Given the description of an element on the screen output the (x, y) to click on. 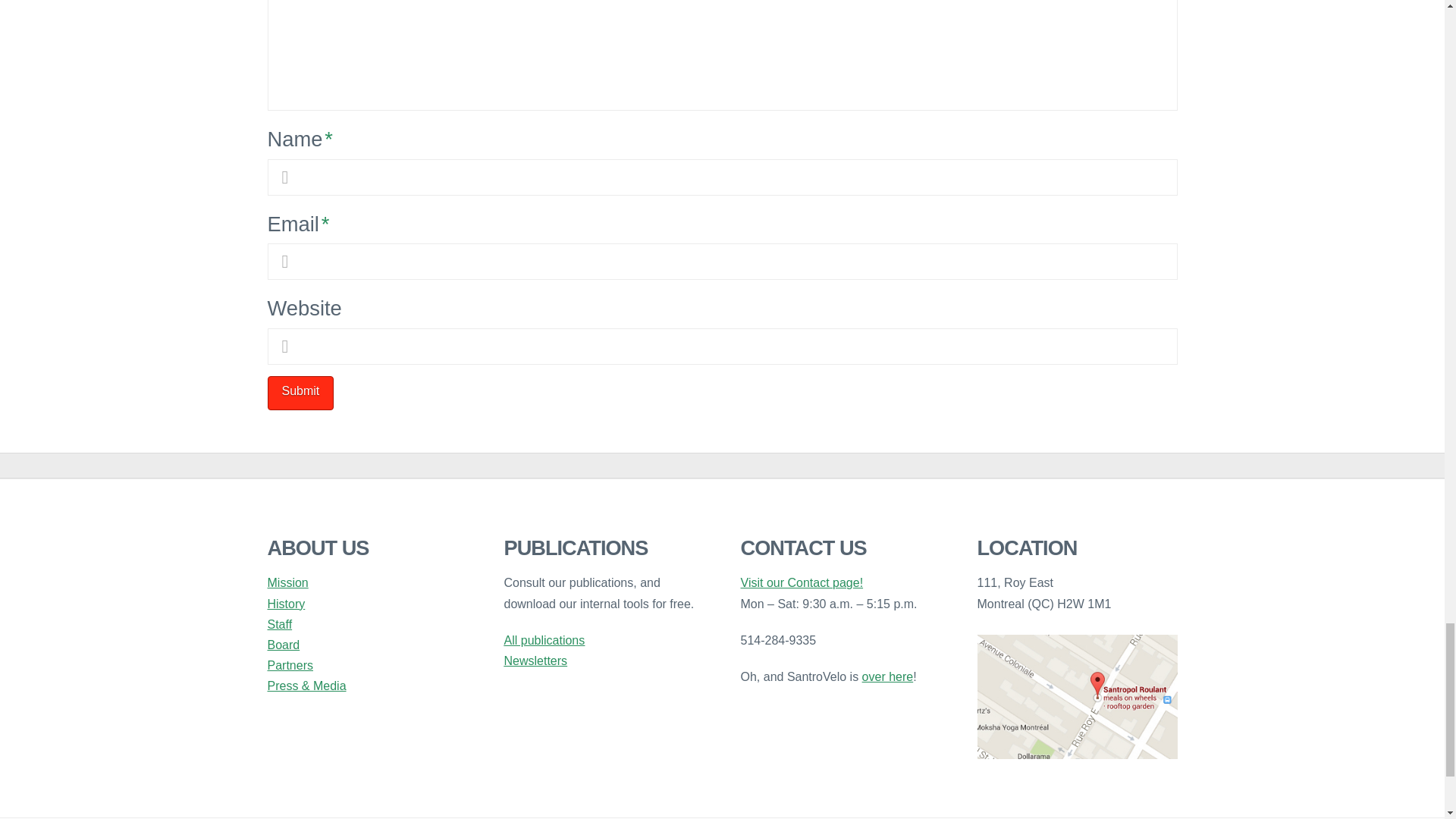
Submit (299, 392)
